Given the description of an element on the screen output the (x, y) to click on. 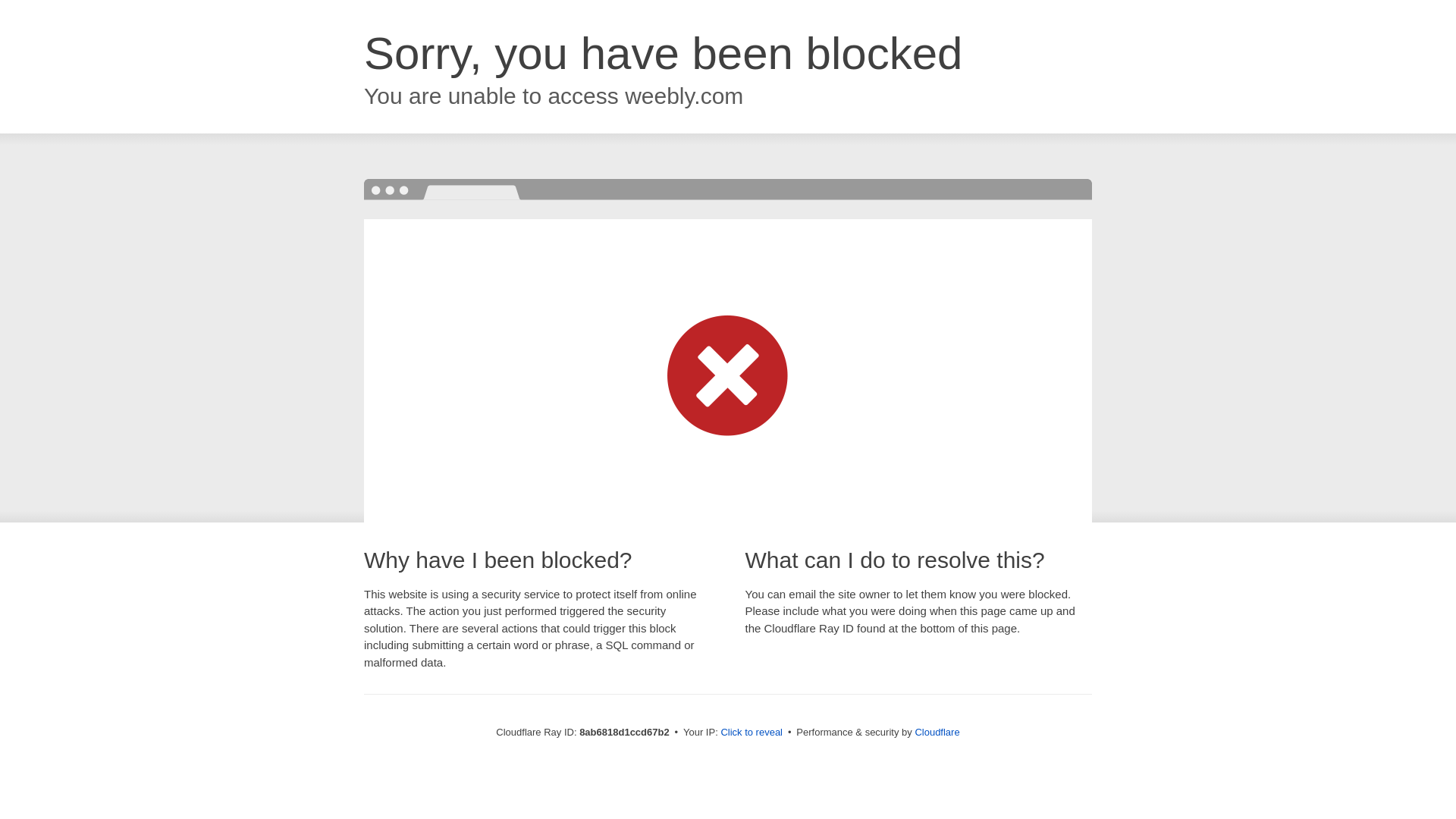
Click to reveal (751, 732)
Cloudflare (936, 731)
